Given the description of an element on the screen output the (x, y) to click on. 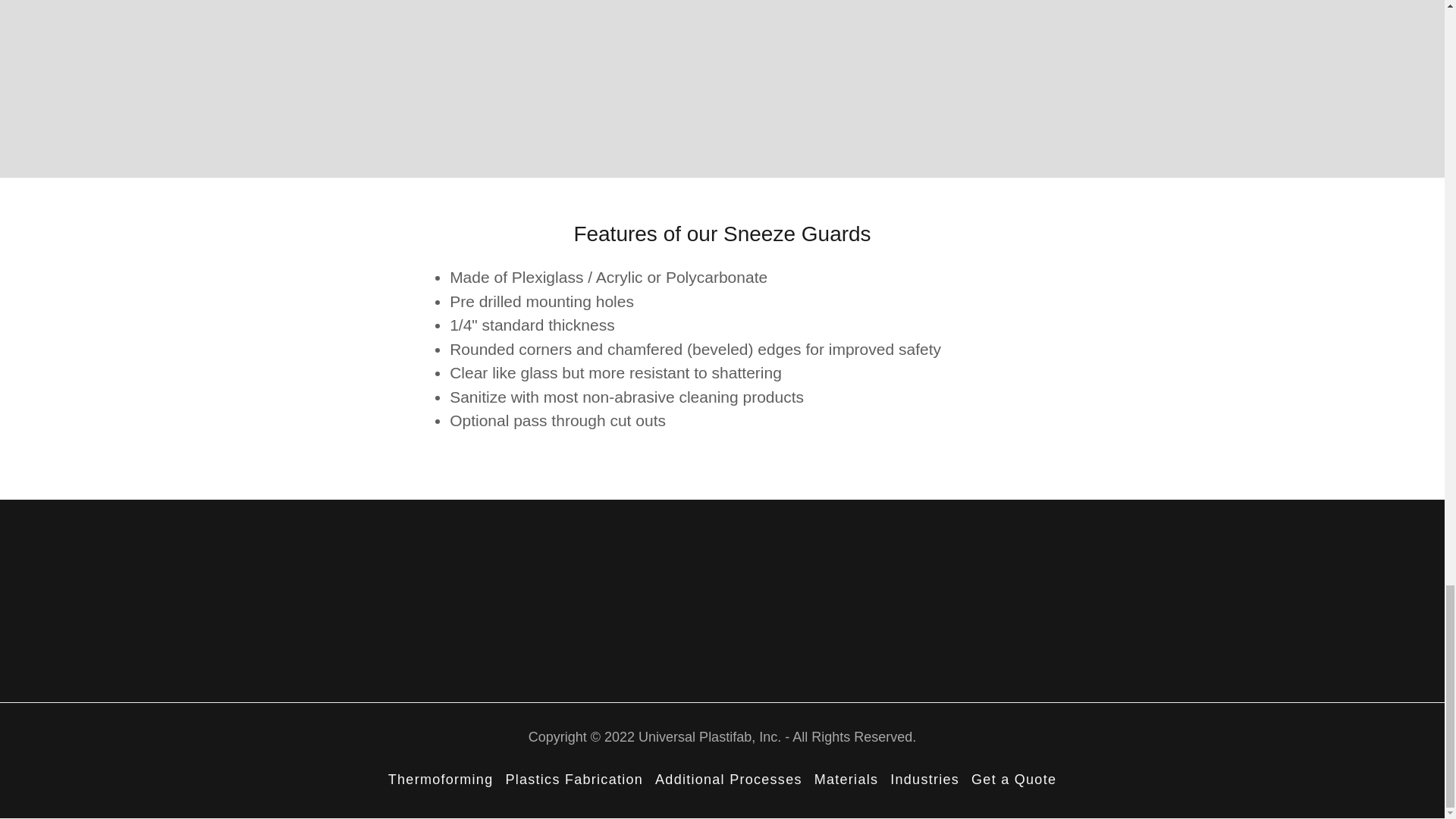
Get a Quote (1013, 779)
Thermoforming (440, 779)
Industries (924, 779)
Plastics Fabrication (574, 779)
Materials (846, 779)
Additional Processes (728, 779)
